Given the description of an element on the screen output the (x, y) to click on. 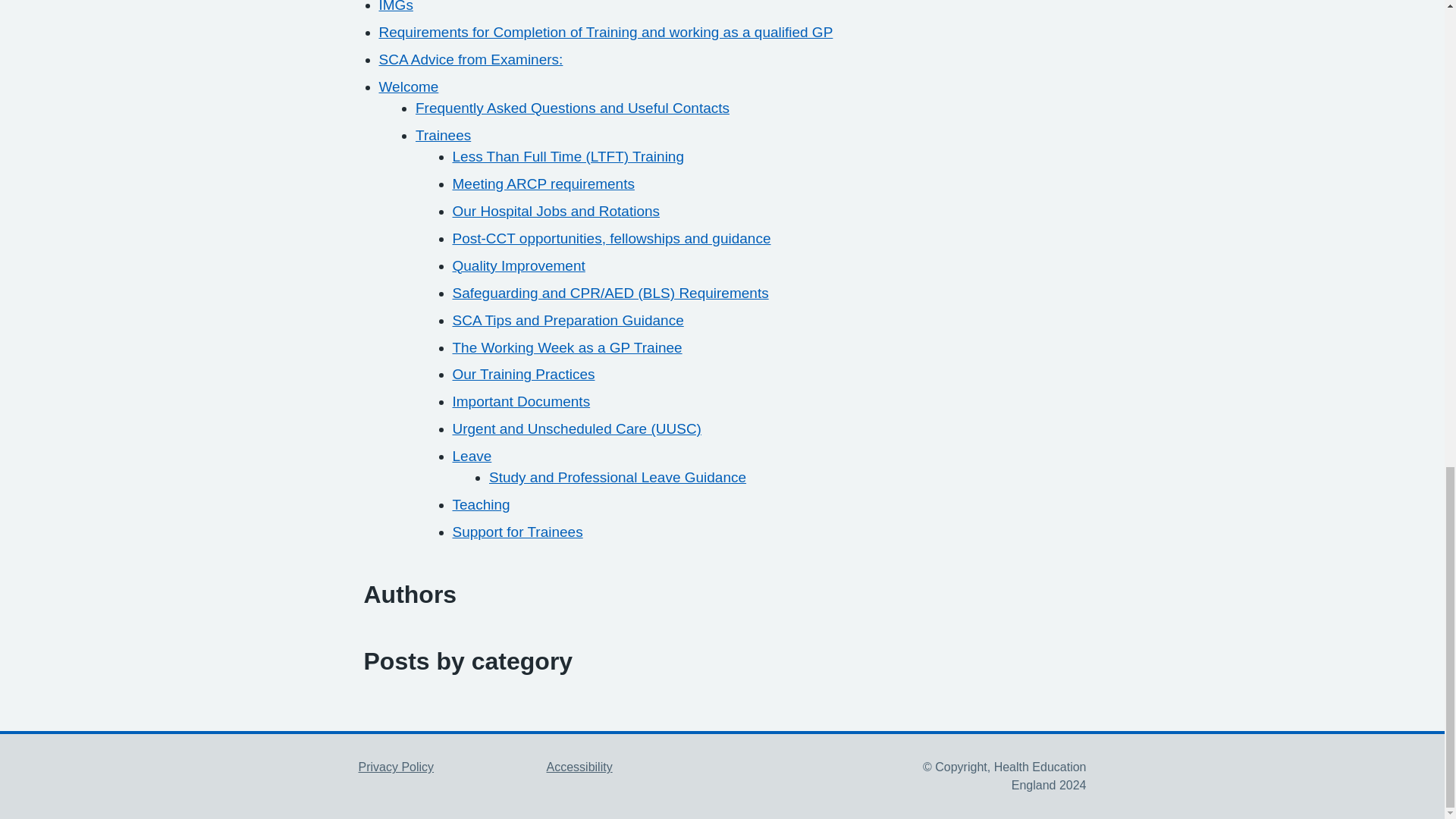
IMGs (395, 6)
SCA Advice from Examiners: (470, 59)
Frequently Asked Questions and Useful Contacts (571, 107)
Welcome (408, 86)
Trainees (442, 135)
